Given the description of an element on the screen output the (x, y) to click on. 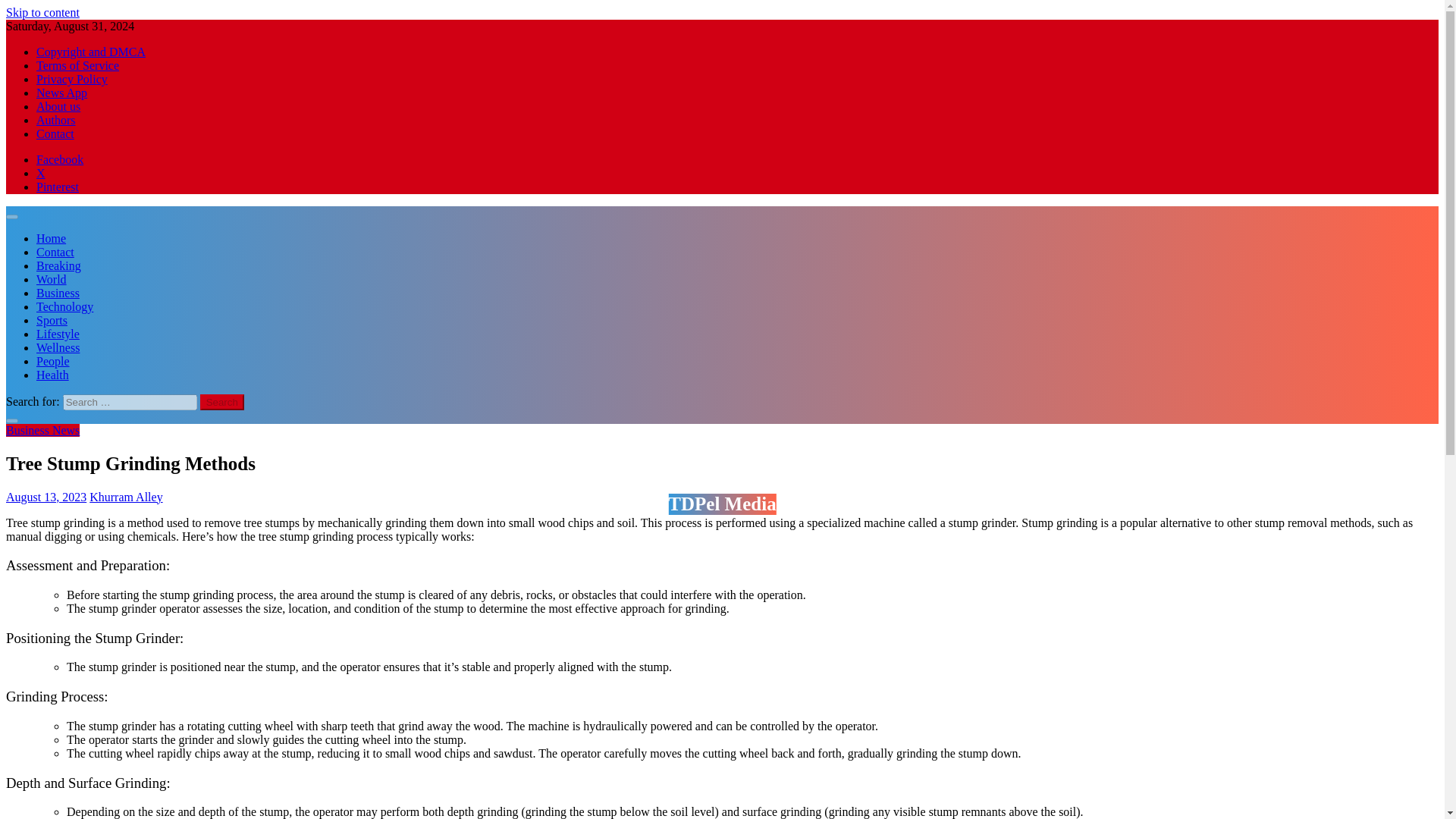
Copyright and DMCA (90, 51)
Business News (42, 430)
Search (222, 401)
Facebook (59, 159)
About us (58, 106)
Health (52, 374)
Authors (55, 119)
Sports (51, 319)
Breaking (58, 265)
Privacy Policy (71, 78)
